Given the description of an element on the screen output the (x, y) to click on. 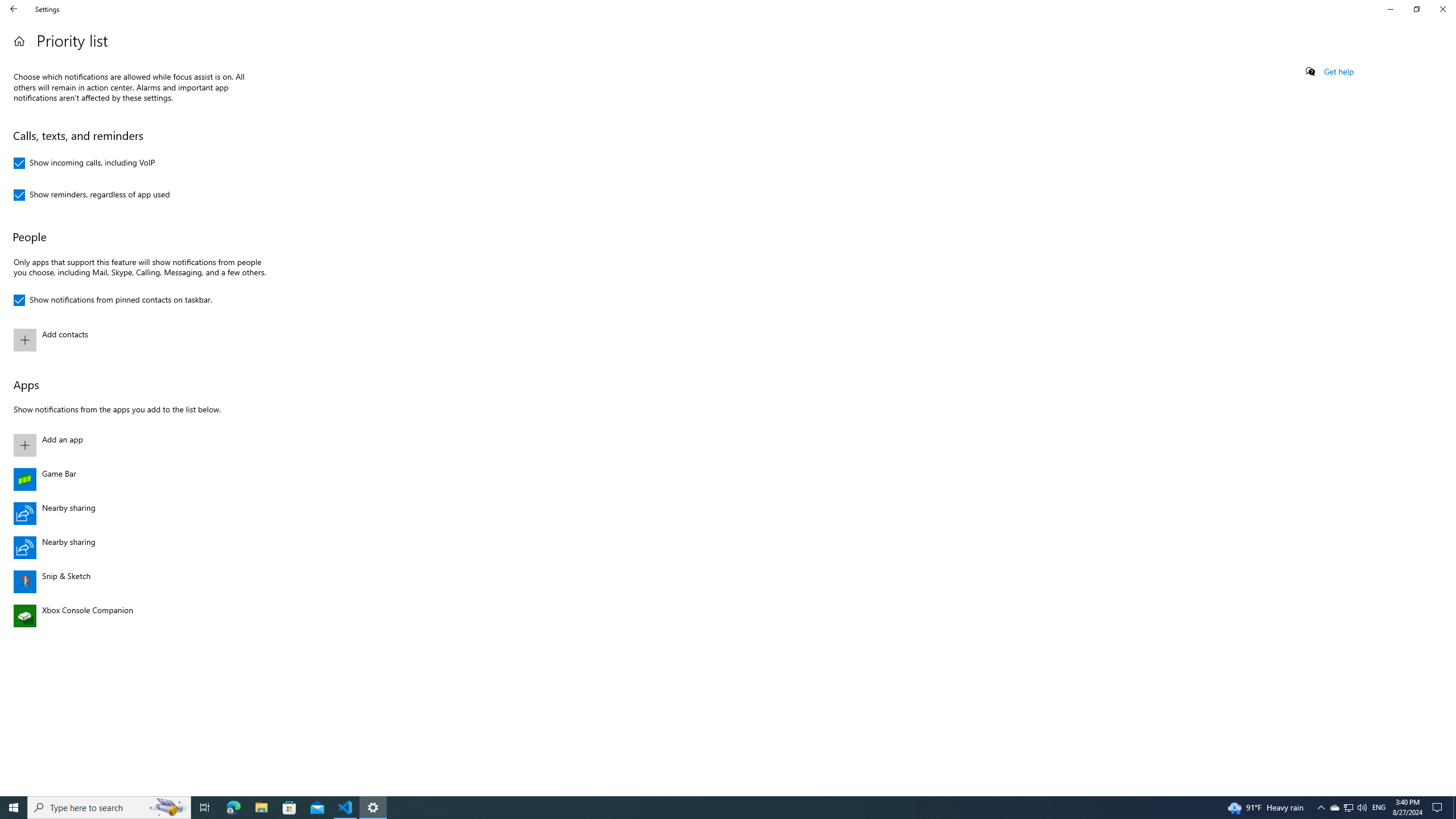
Minimize Settings (1390, 9)
Action Center, No new notifications (1439, 807)
Xbox Console Companion (137, 615)
Show incoming calls, including VoIP (84, 162)
Q2790: 100% (1361, 807)
Show notifications from pinned contacts on taskbar. (112, 300)
Get help (1338, 71)
Running applications (706, 807)
Show desktop (1454, 807)
Home (19, 40)
Add an app (137, 445)
Game Bar (137, 479)
Settings - 1 running window (373, 807)
